Given the description of an element on the screen output the (x, y) to click on. 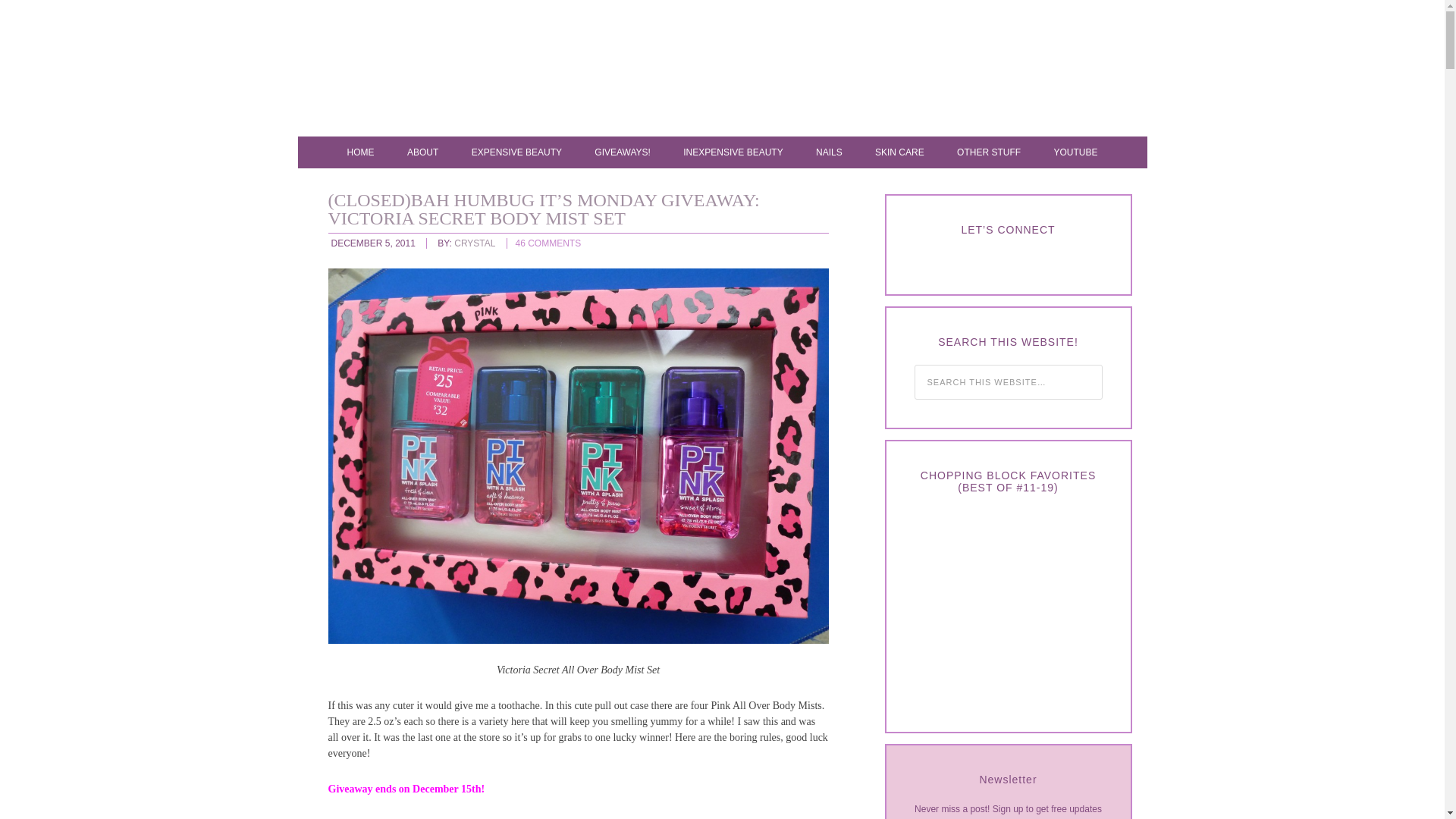
NAILS (828, 152)
HOME (360, 152)
YOUTUBE (1075, 152)
ABOUT (421, 152)
INEXPENSIVE BEAUTY (732, 152)
GIVEAWAYS! (622, 152)
46 COMMENTS (547, 243)
crystalis007 (737, 71)
EXPENSIVE BEAUTY (516, 152)
OTHER STUFF (988, 152)
crystalis007 (737, 71)
SKIN CARE (899, 152)
